Given the description of an element on the screen output the (x, y) to click on. 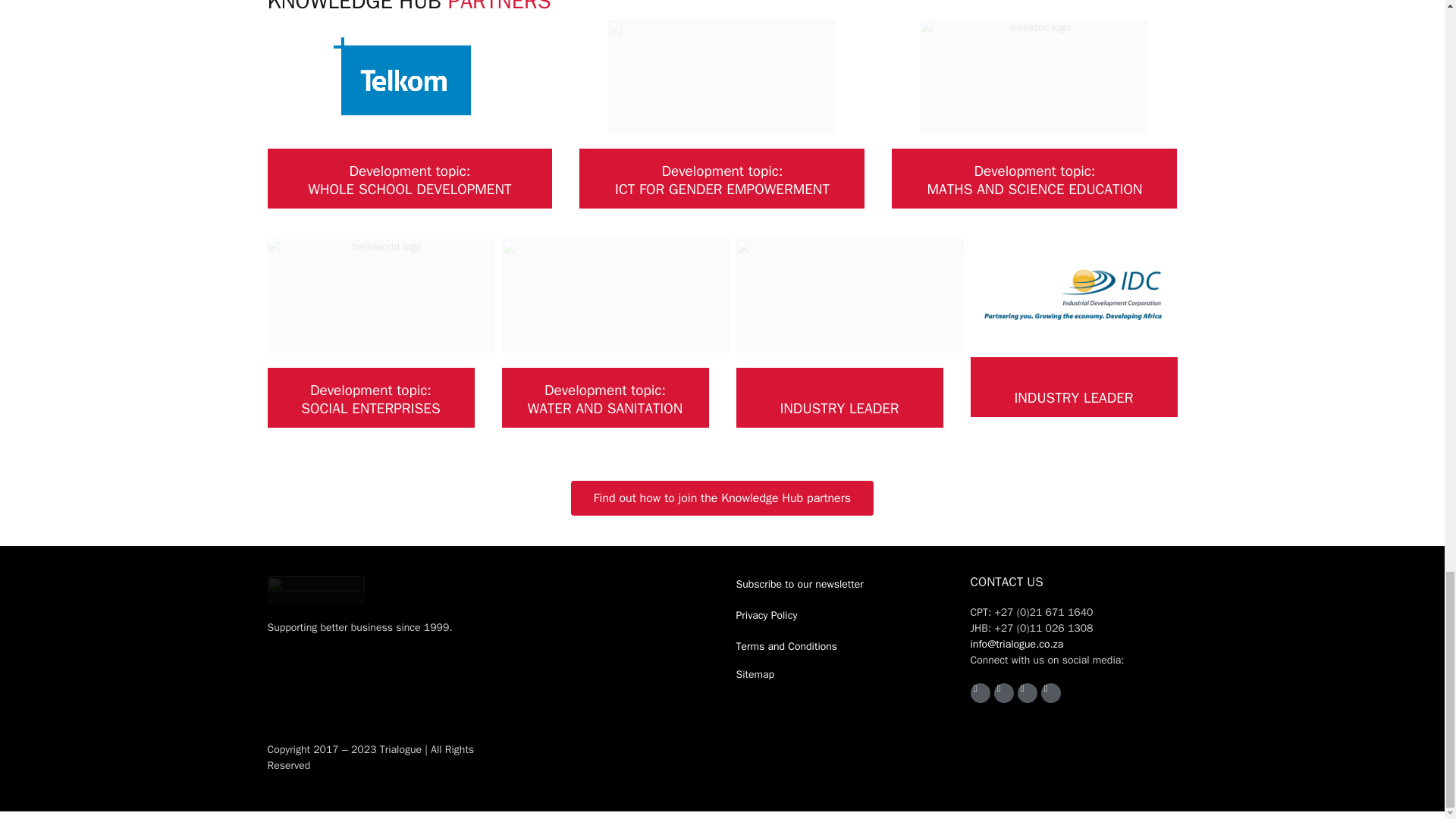
telkom 300 x 150 (408, 76)
